Given the description of an element on the screen output the (x, y) to click on. 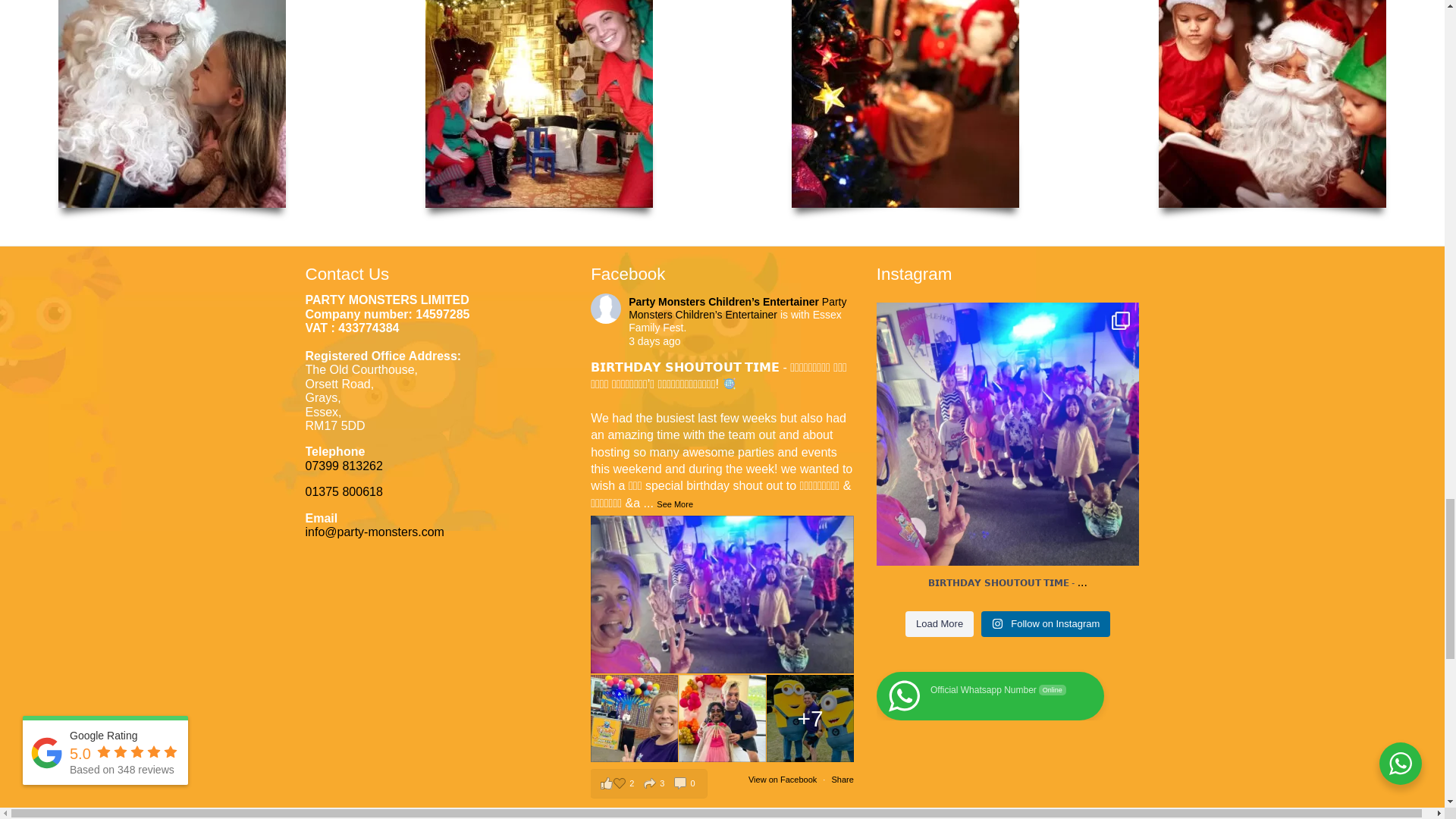
the jingle bell party experience 4 (1272, 104)
the jingle bell party experience 3 (905, 104)
Share (842, 778)
View on Facebook (783, 778)
the jingle bell party experience 2 (538, 104)
the jingle bell party experience 1 (171, 104)
